Given the description of an element on the screen output the (x, y) to click on. 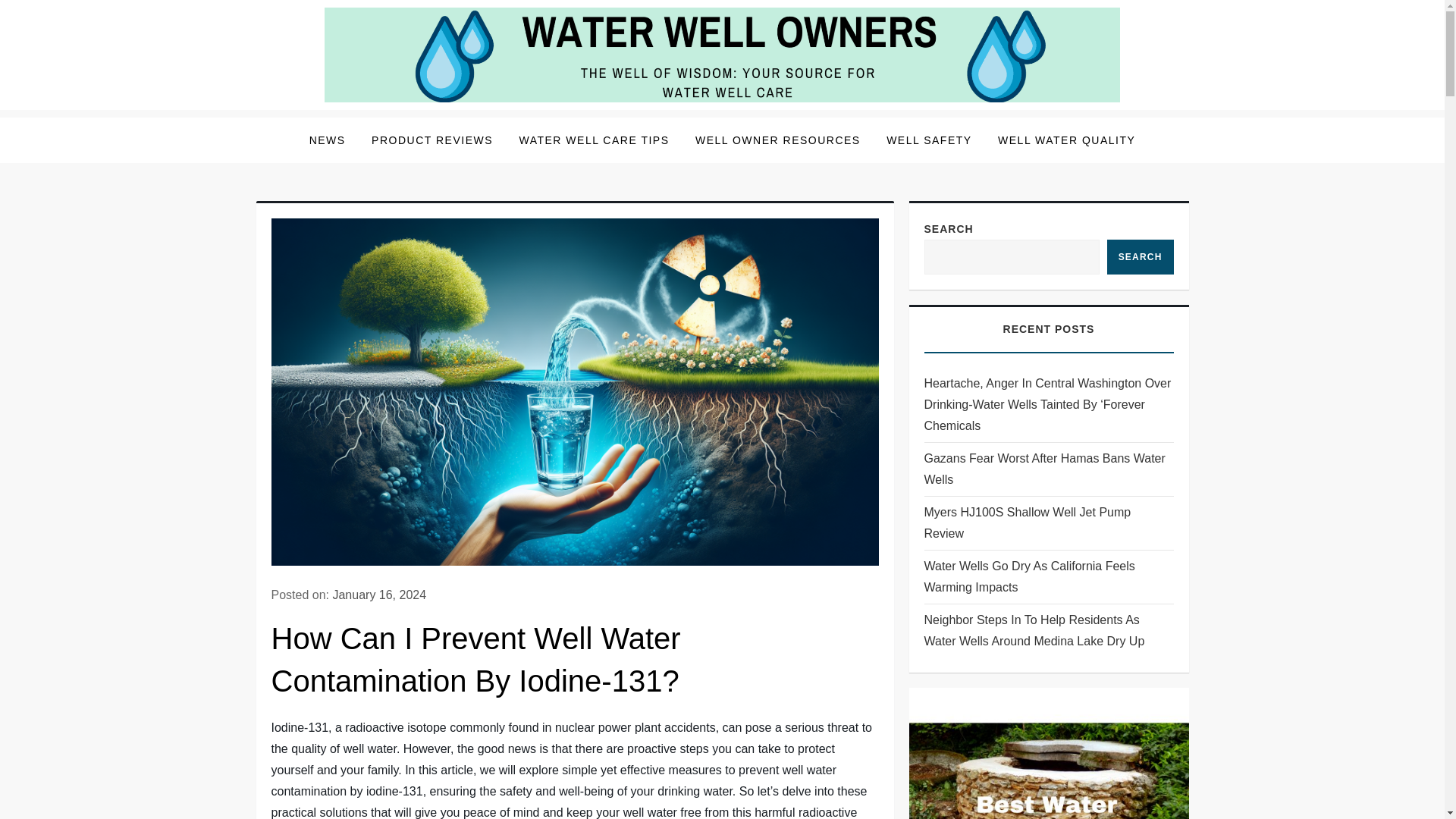
WATER WELL CARE TIPS (592, 139)
NEWS (327, 139)
WELL SAFETY (928, 139)
Water Well Owners (385, 120)
January 16, 2024 (378, 594)
WELL WATER QUALITY (1067, 139)
PRODUCT REVIEWS (431, 139)
WELL OWNER RESOURCES (778, 139)
